Given the description of an element on the screen output the (x, y) to click on. 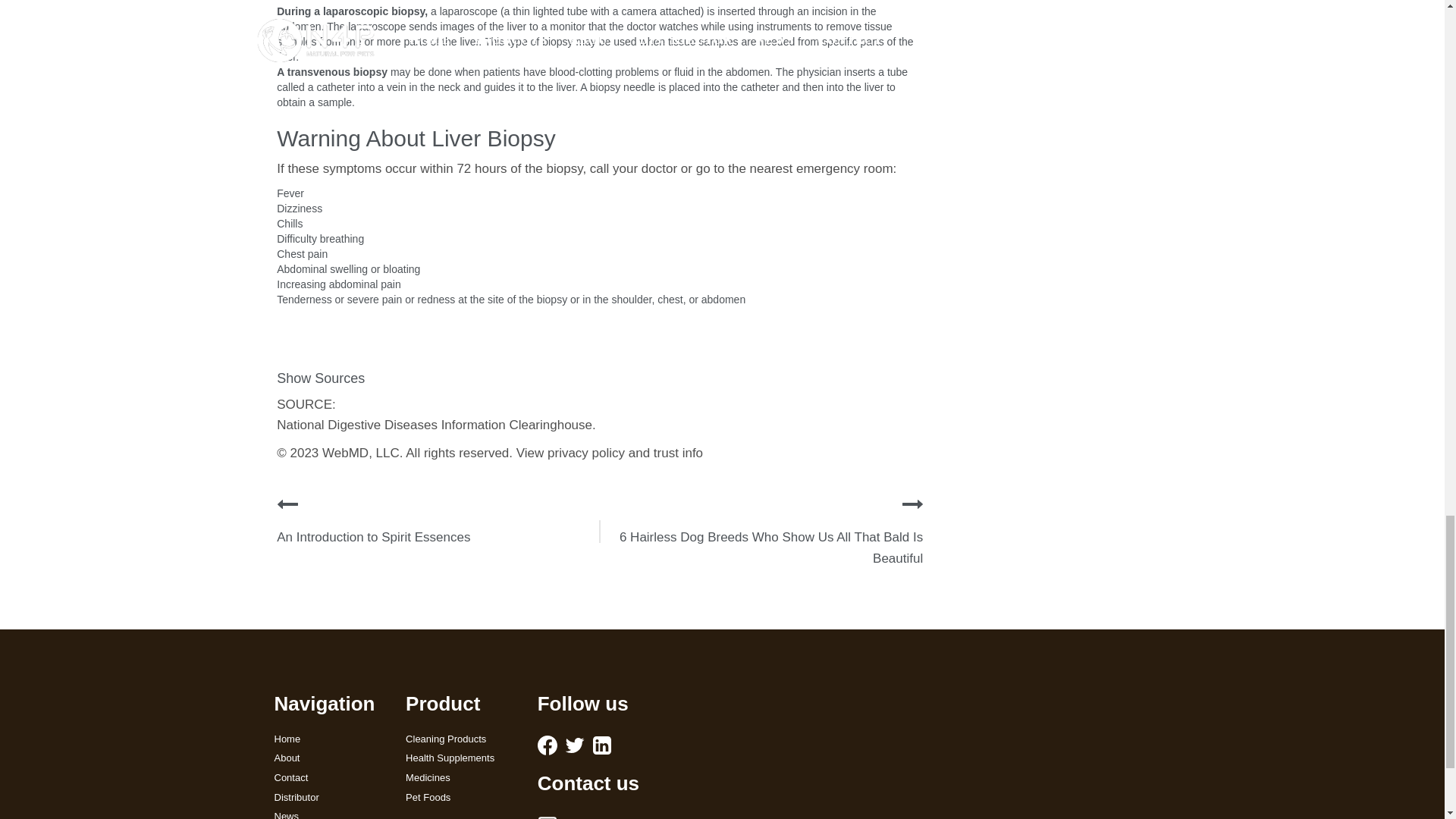
An Introduction to Spirit Essences (373, 536)
previous article (287, 504)
Twitter (574, 744)
6 Hairless Dog Breeds Who Show Us All That Bald Is Beautiful (771, 547)
Linkedin (601, 744)
next article (912, 504)
Home (329, 739)
